Given the description of an element on the screen output the (x, y) to click on. 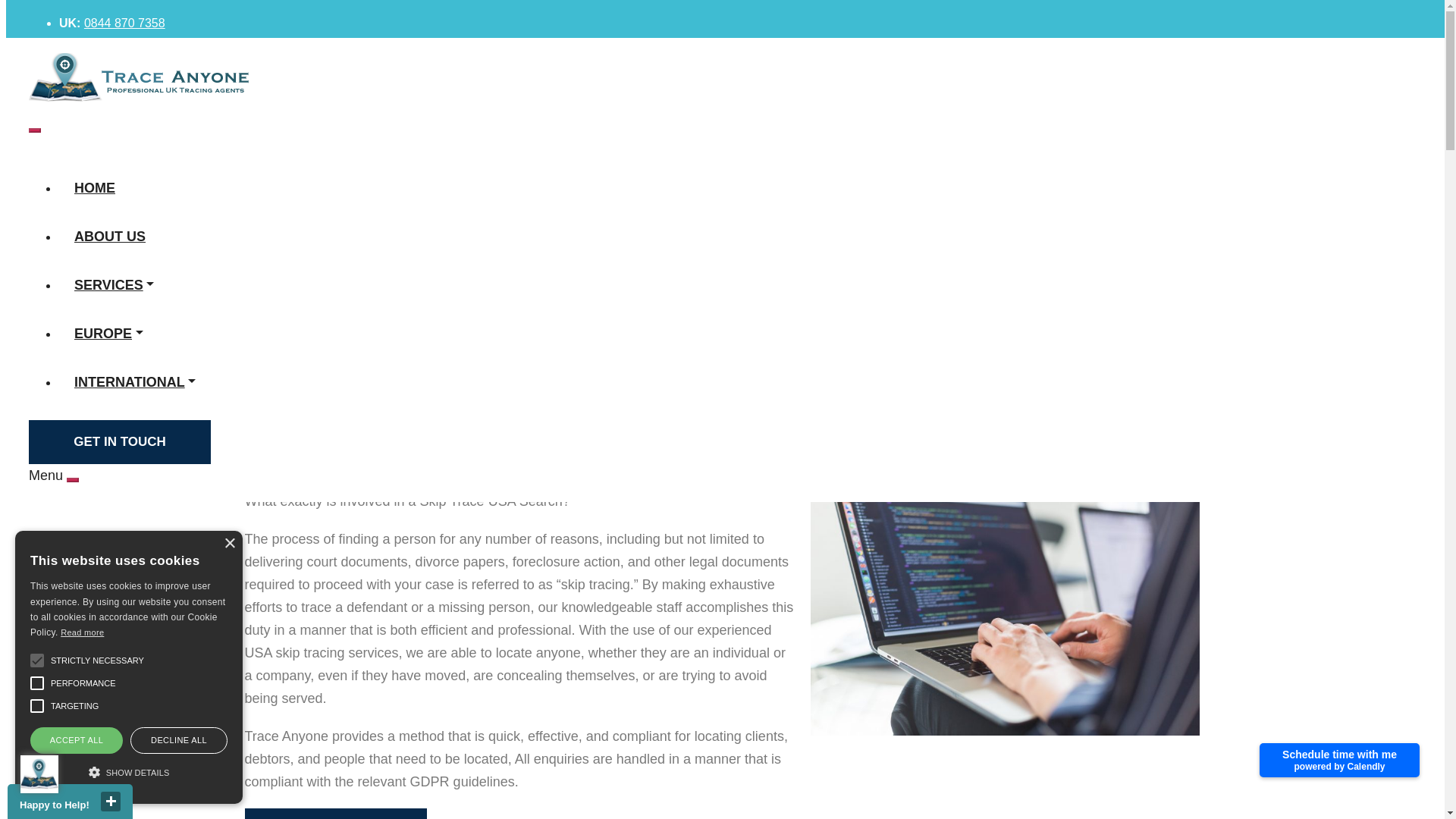
SERVICES (113, 284)
GET IN TOUCH (120, 442)
ABOUT US (109, 236)
HOME (95, 187)
INTERNATIONAL (135, 381)
0844 870 7358 (124, 22)
EUROPE (108, 333)
